Given the description of an element on the screen output the (x, y) to click on. 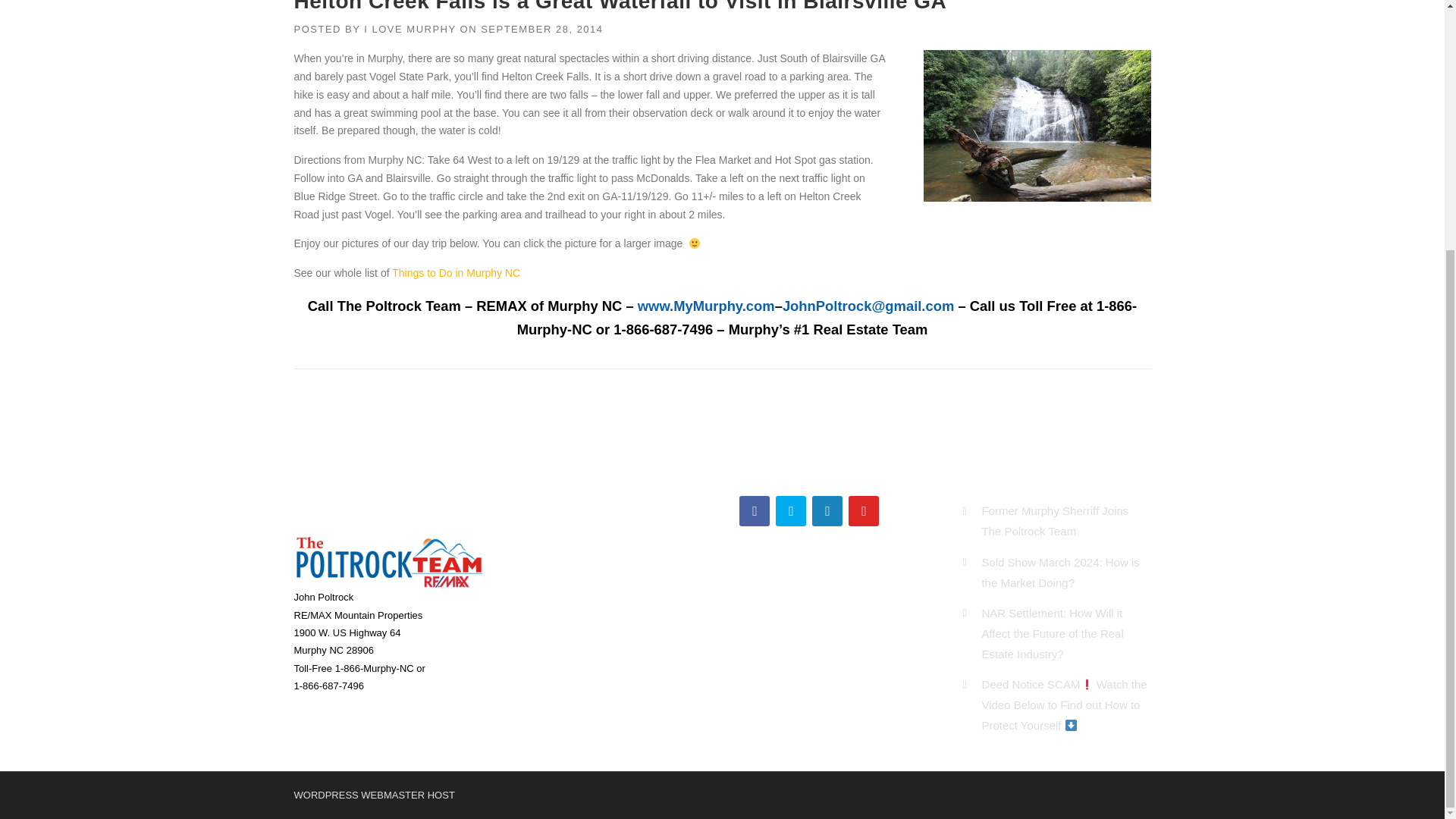
LinkedIn (827, 511)
Things to Do in Murphy NC (455, 272)
YouTube (863, 511)
The Poltrock Team at REMAX in Murphy NC Website (705, 305)
Twitter (791, 511)
Facebook (754, 511)
